Given the description of an element on the screen output the (x, y) to click on. 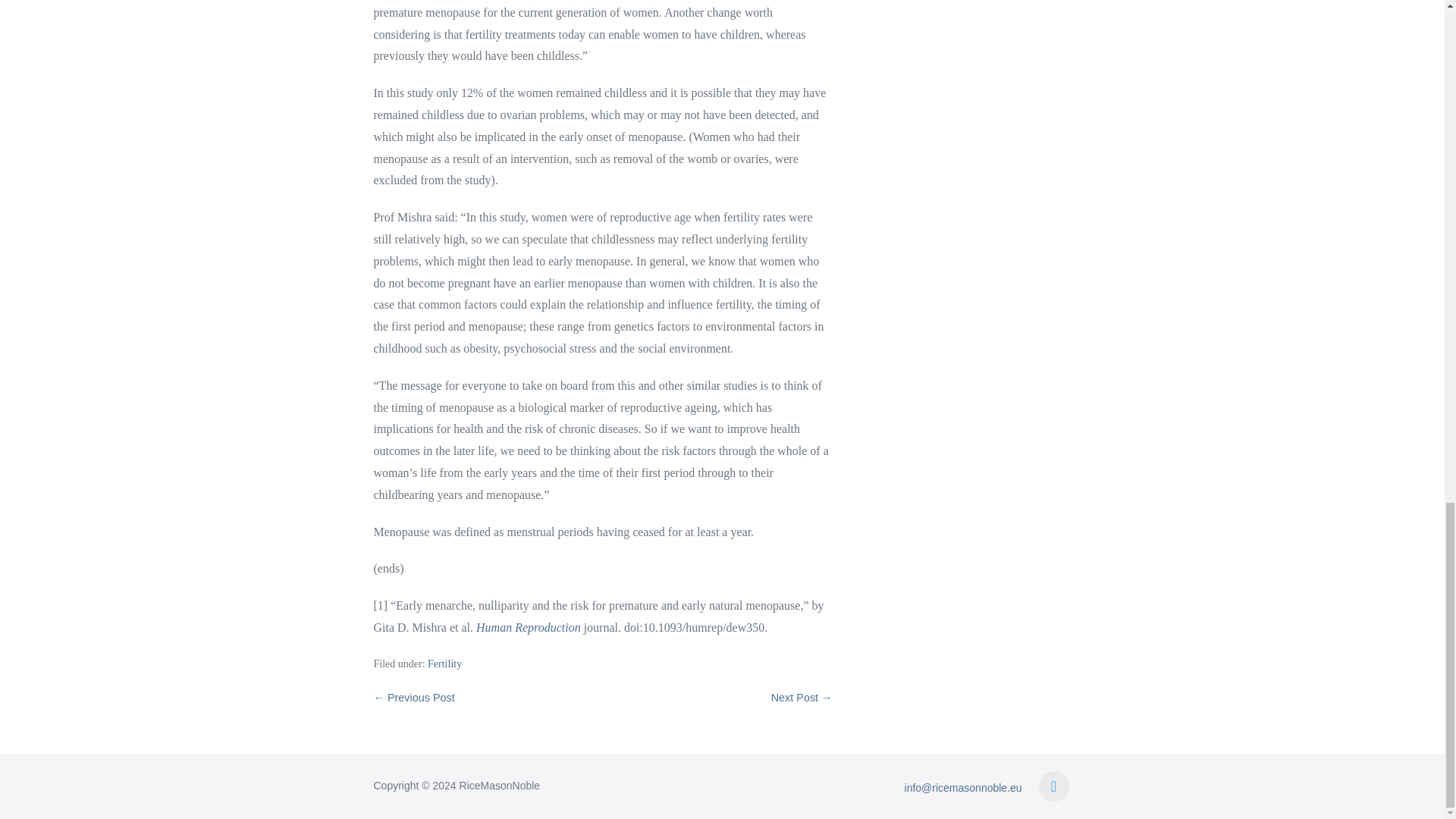
Fertility (444, 663)
Human Reproduction (528, 626)
Twitter (1053, 786)
